Given the description of an element on the screen output the (x, y) to click on. 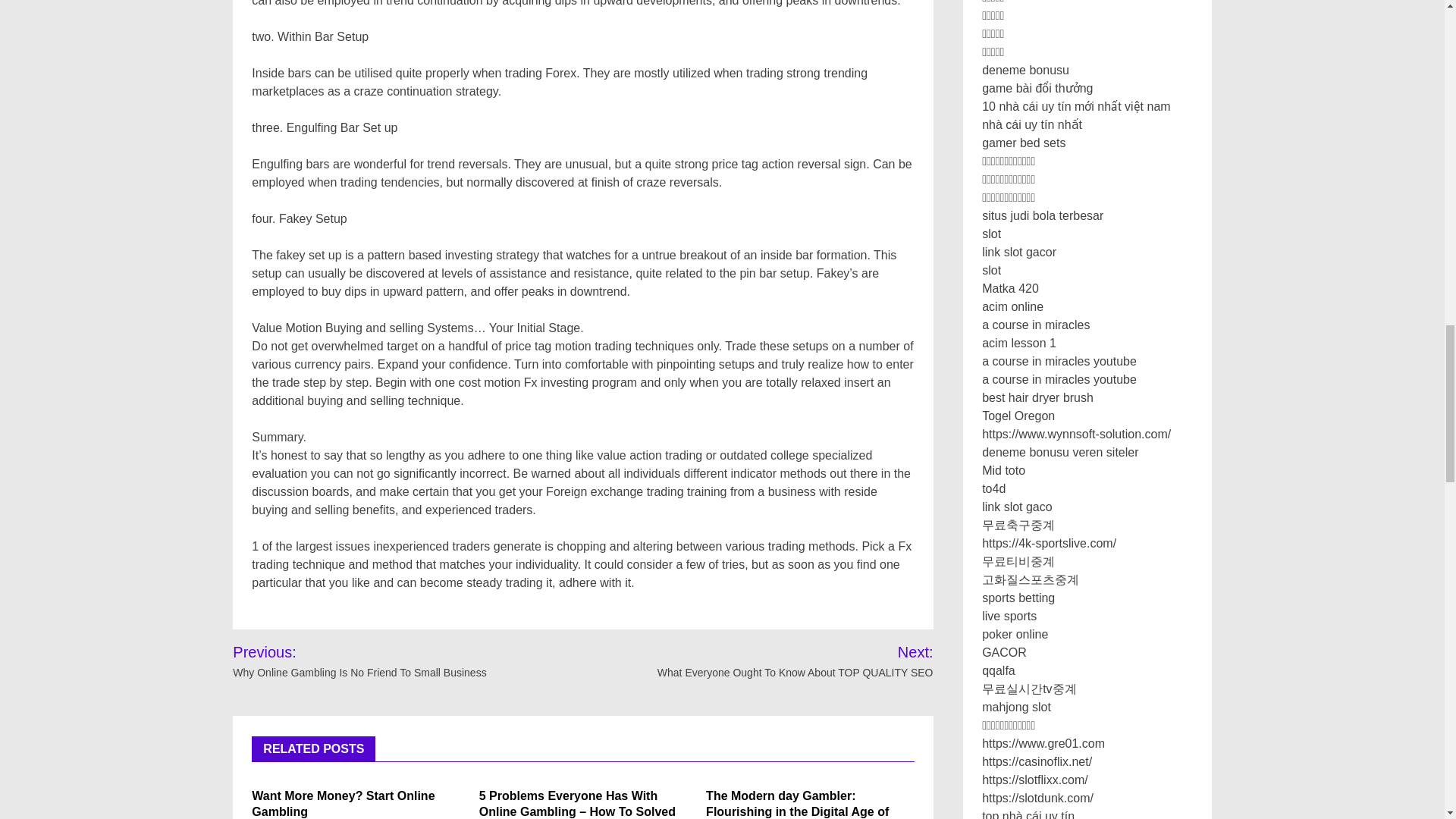
Previous: Why Online Gambling Is No Friend To Small Business (392, 660)
Next: What Everyone Ought To Know About TOP QUALITY SEO (775, 660)
Want More Money? Start Online Gambling (342, 803)
